Given the description of an element on the screen output the (x, y) to click on. 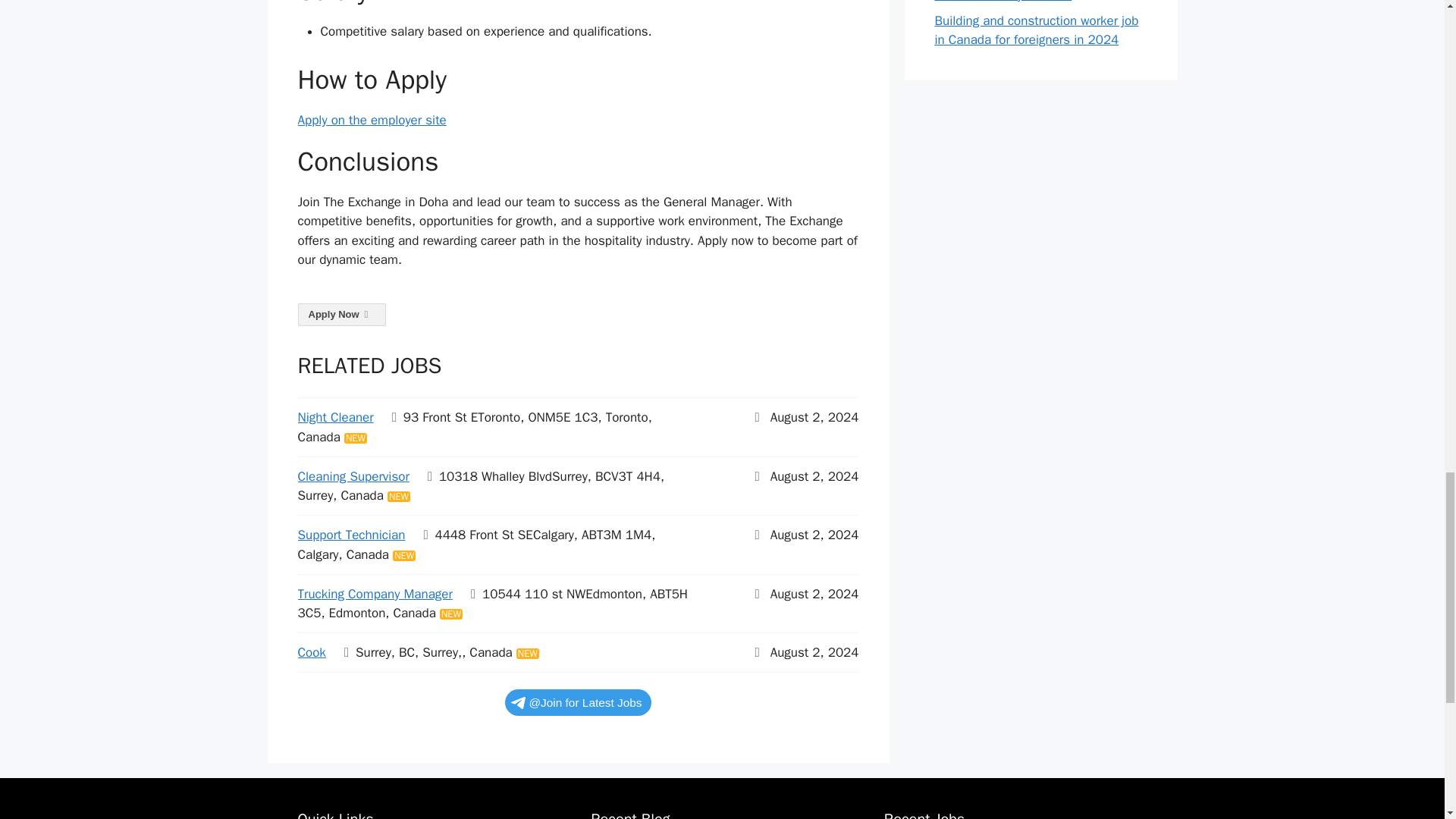
Apply on the employer site (371, 119)
Night Cleaner (334, 417)
Apply Now  (341, 314)
Support Technician (350, 534)
Stocking associate job in Canada with best salary in 2024 (1028, 1)
Cleaning Supervisor (353, 476)
Cook (310, 652)
Trucking Company Manager (374, 593)
